Given the description of an element on the screen output the (x, y) to click on. 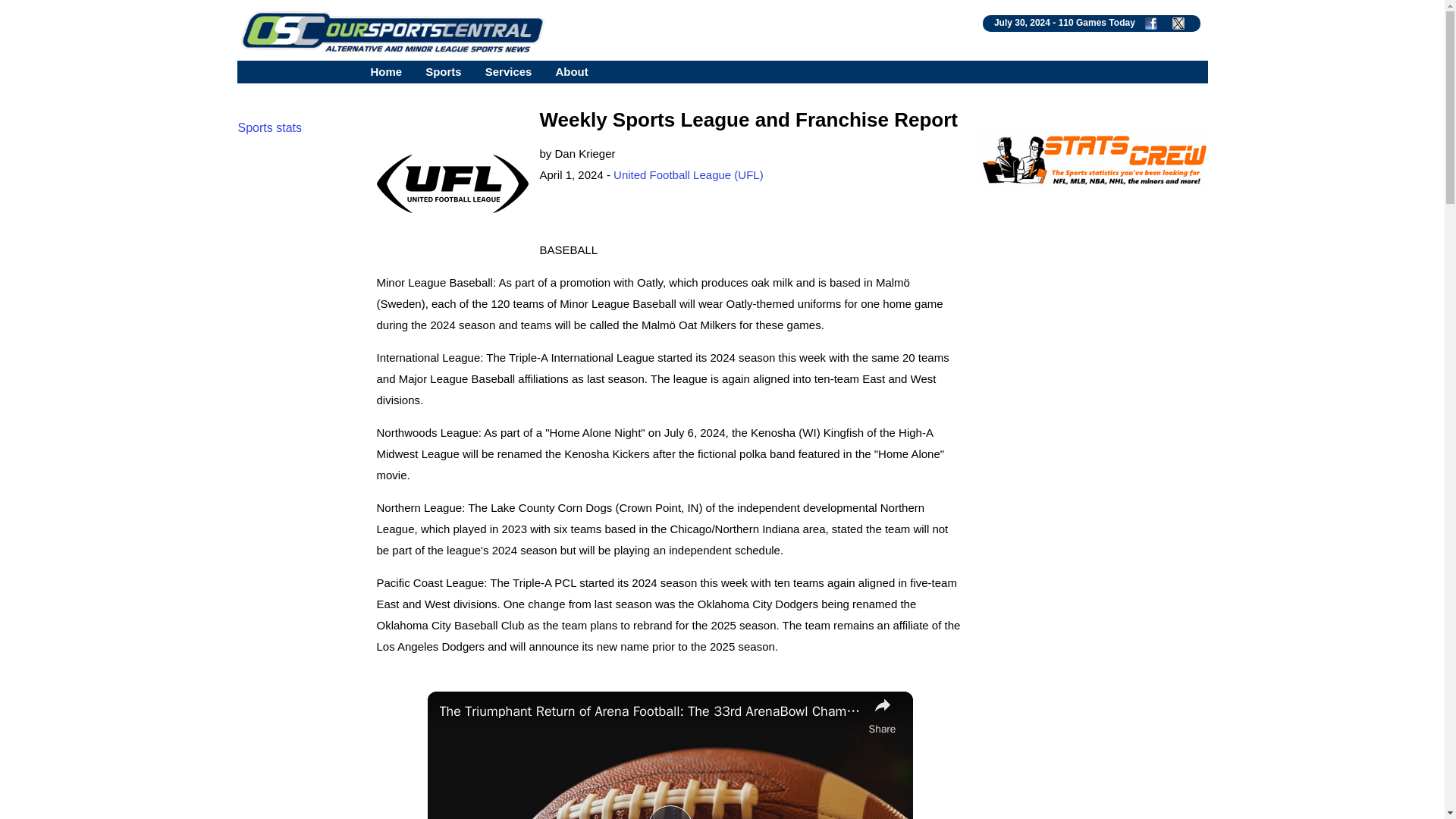
Sports stats (269, 127)
Play Video (670, 812)
Home (385, 71)
110 Games Today (1096, 22)
Play Video (670, 812)
